Given the description of an element on the screen output the (x, y) to click on. 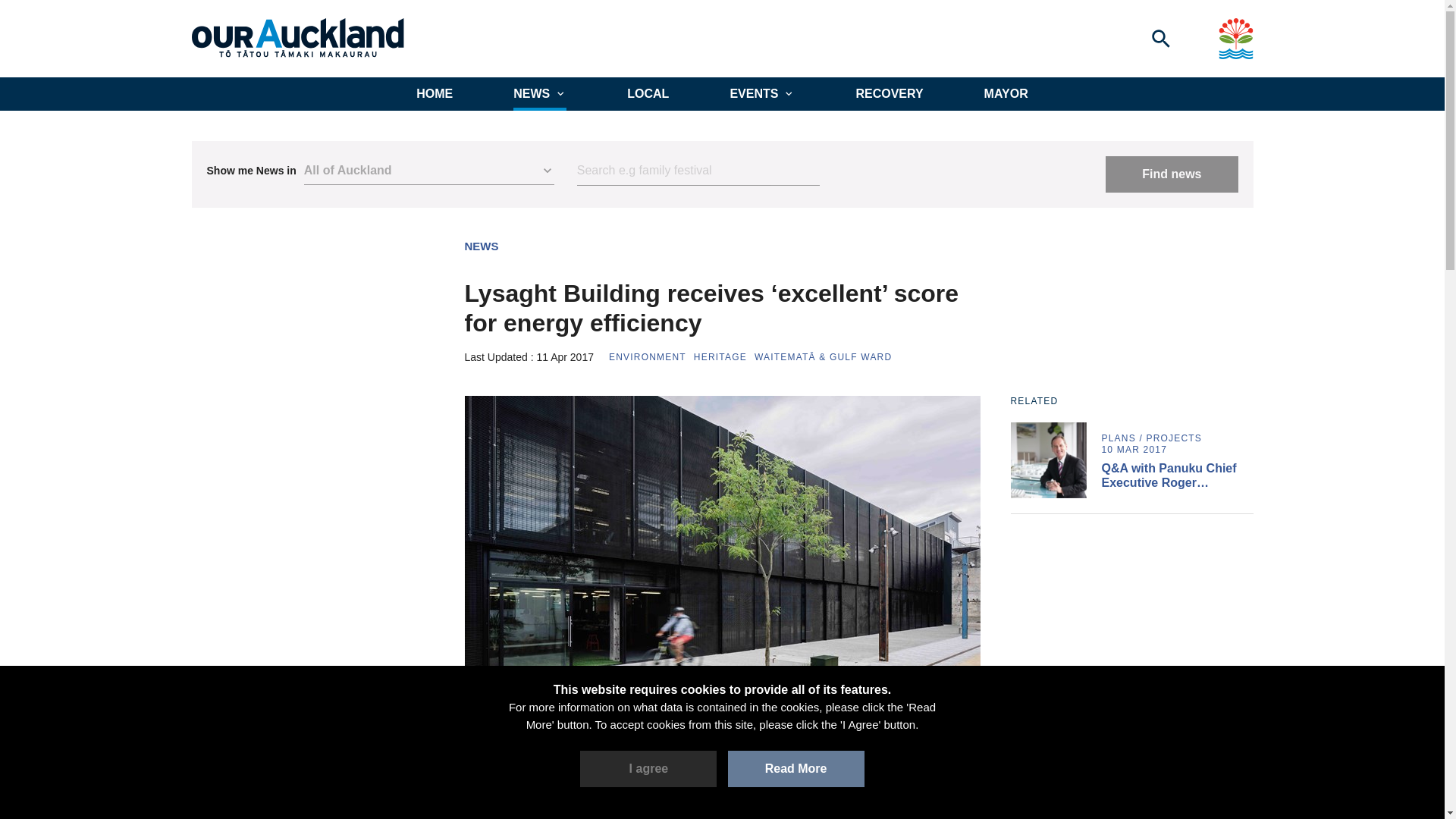
LOCAL (647, 93)
Toggle search (1160, 38)
HOME (434, 93)
ENVIRONMENT (646, 357)
MAYOR (1005, 93)
Find news (1171, 174)
EVENTS (761, 93)
NEWS (480, 245)
HERITAGE (720, 357)
NEWS (539, 93)
